Given the description of an element on the screen output the (x, y) to click on. 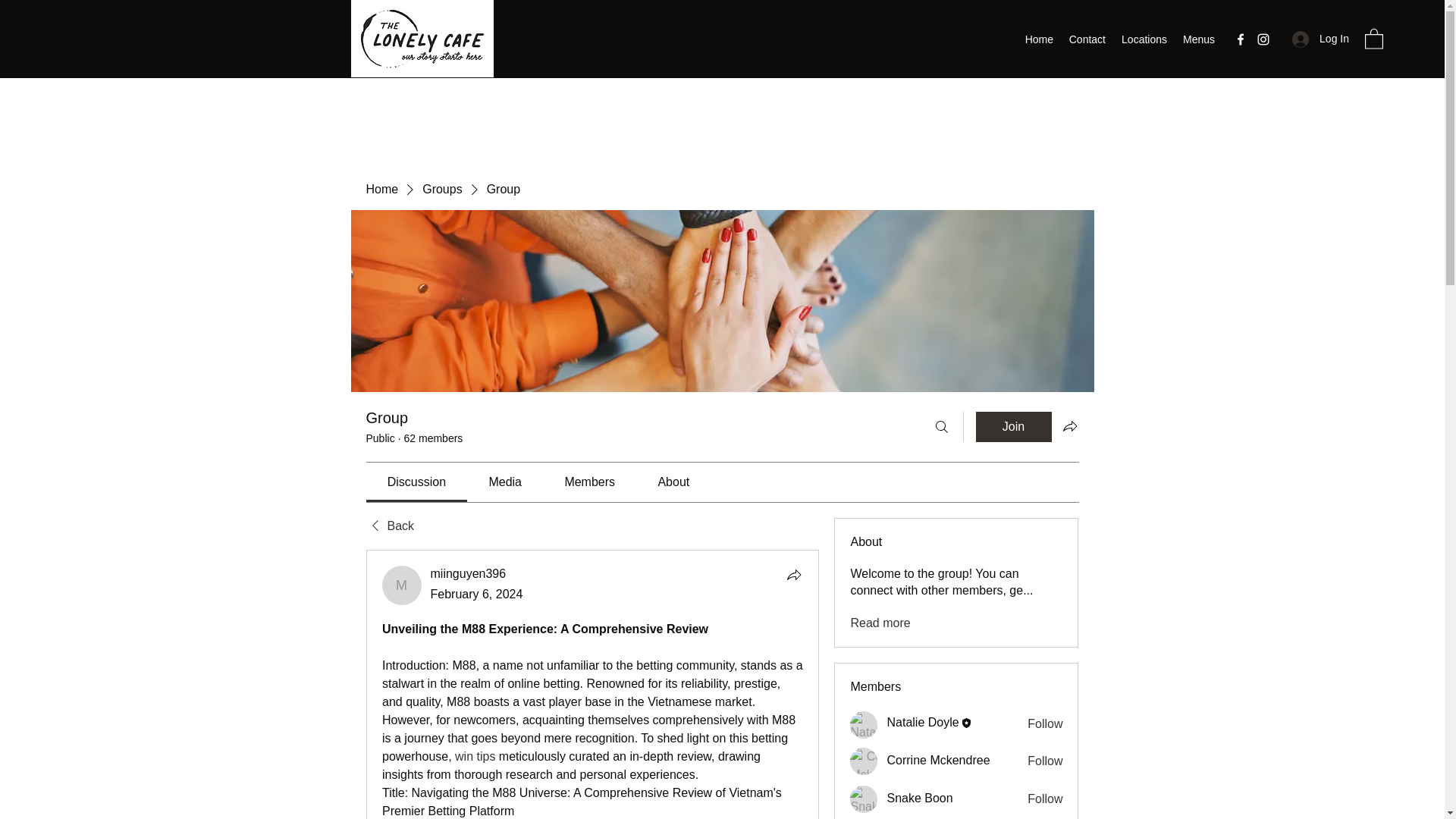
Natalie Doyle (863, 724)
miinguyen396 (468, 573)
win tips (474, 756)
Log In (1320, 39)
Snake Boon (863, 799)
Follow (1044, 799)
Back (389, 525)
Corrine Mckendree (938, 759)
February 6, 2024 (476, 594)
Corrine Mckendree (863, 760)
